Given the description of an element on the screen output the (x, y) to click on. 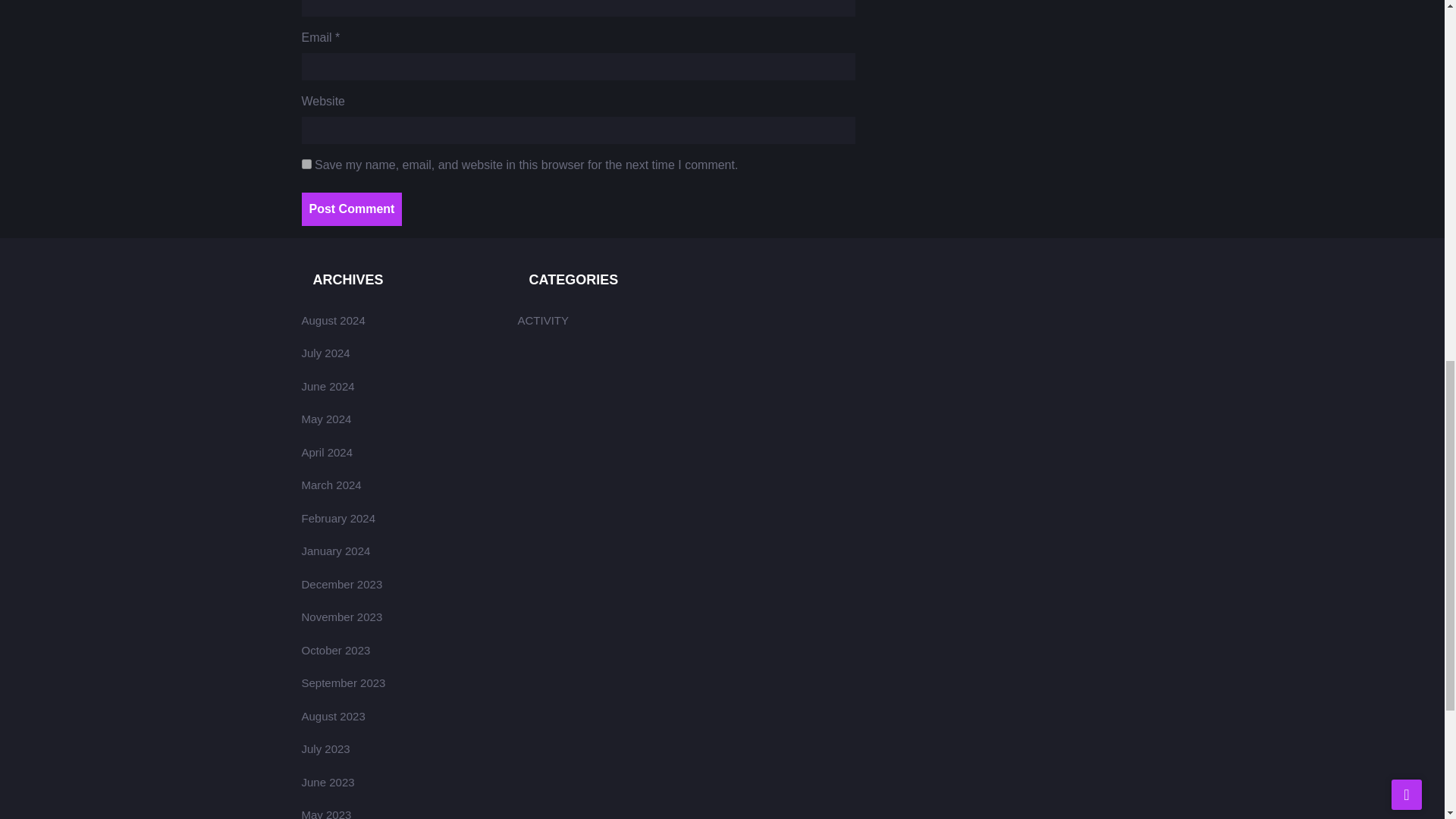
Post Comment (352, 209)
June 2023 (328, 781)
August 2023 (333, 716)
September 2023 (343, 682)
ACTIVITY (542, 319)
May 2024 (326, 418)
yes (306, 163)
March 2024 (331, 484)
July 2023 (325, 748)
October 2023 (336, 649)
